Given the description of an element on the screen output the (x, y) to click on. 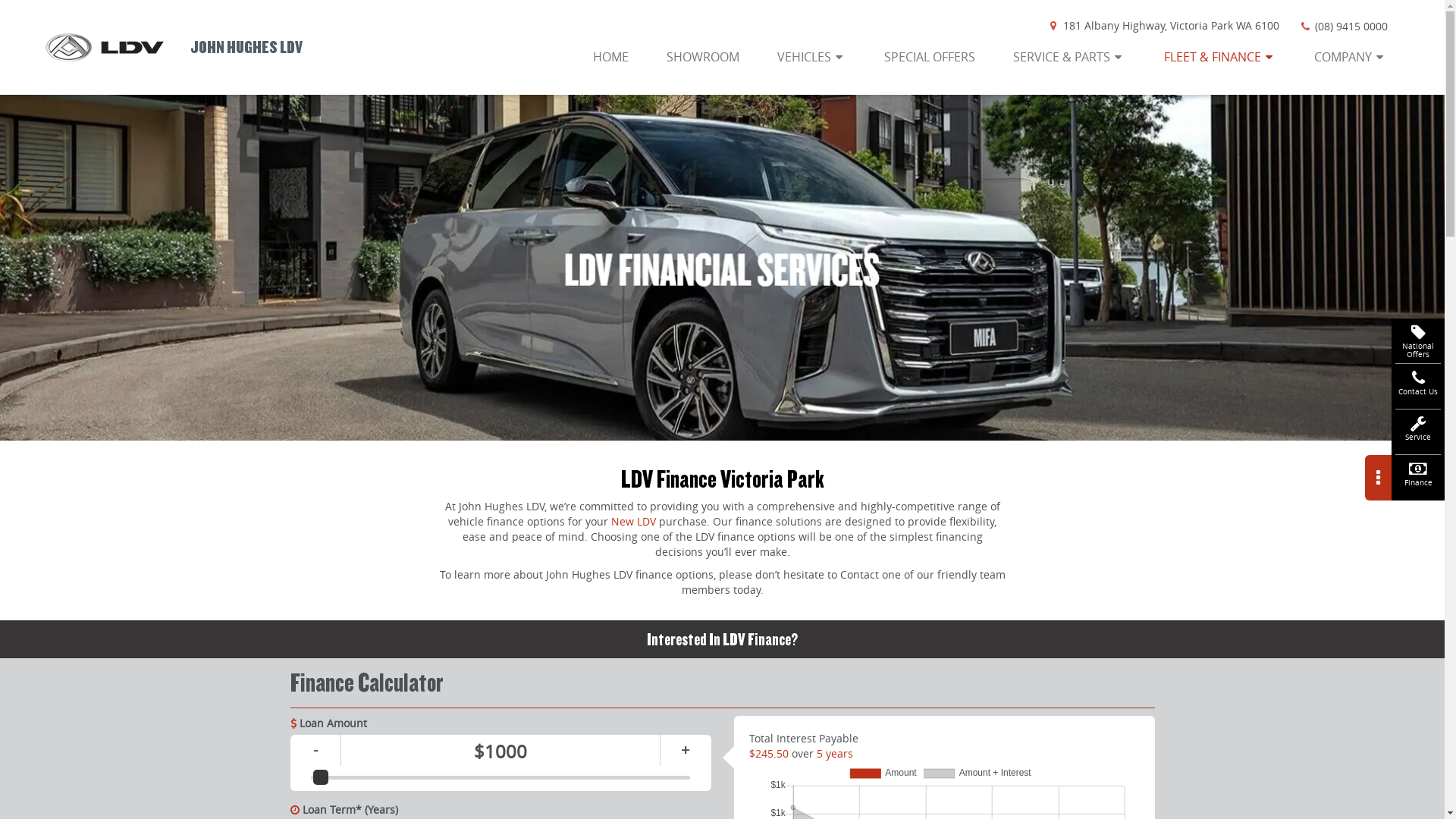
VEHICLES Element type: text (812, 56)
Finance Element type: text (1417, 477)
FLEET & FINANCE Element type: text (1220, 56)
New LDV Element type: text (633, 521)
Contact Us Element type: text (1417, 386)
SPECIAL OFFERS Element type: text (929, 56)
(08) 9415 0000 Element type: text (1342, 25)
COMPANY Element type: text (1350, 56)
- Element type: text (315, 750)
National Offers Element type: text (1417, 341)
weekly Element type: text (4, 4)
SHOWROOM Element type: text (702, 56)
+ Element type: text (685, 750)
Service Element type: text (1417, 432)
SERVICE & PARTS Element type: text (1069, 56)
181 Albany Highway, Victoria Park WA 6100 Element type: text (1162, 25)
HOME Element type: text (612, 56)
